Given the description of an element on the screen output the (x, y) to click on. 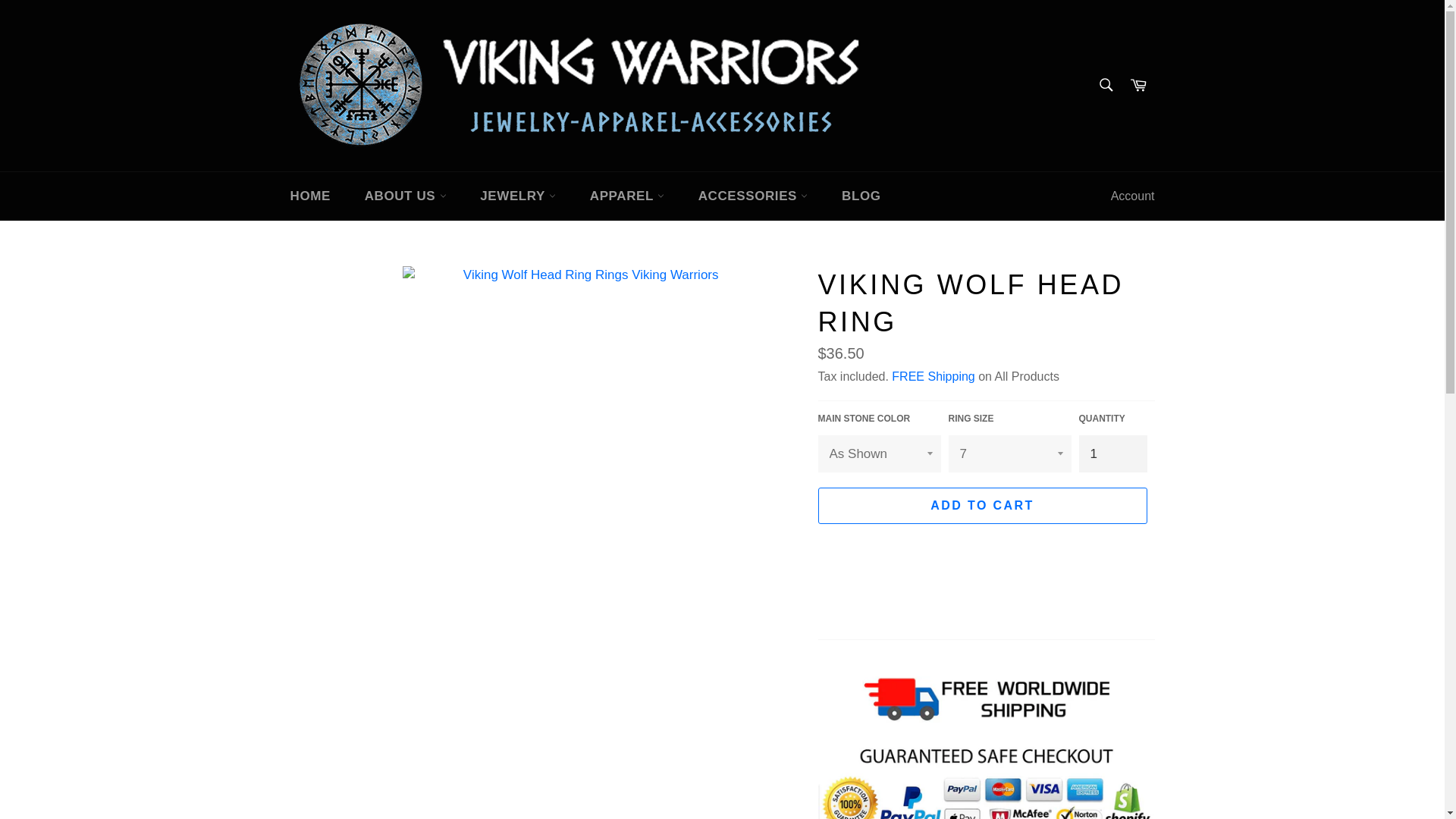
1 (1112, 453)
